Given the description of an element on the screen output the (x, y) to click on. 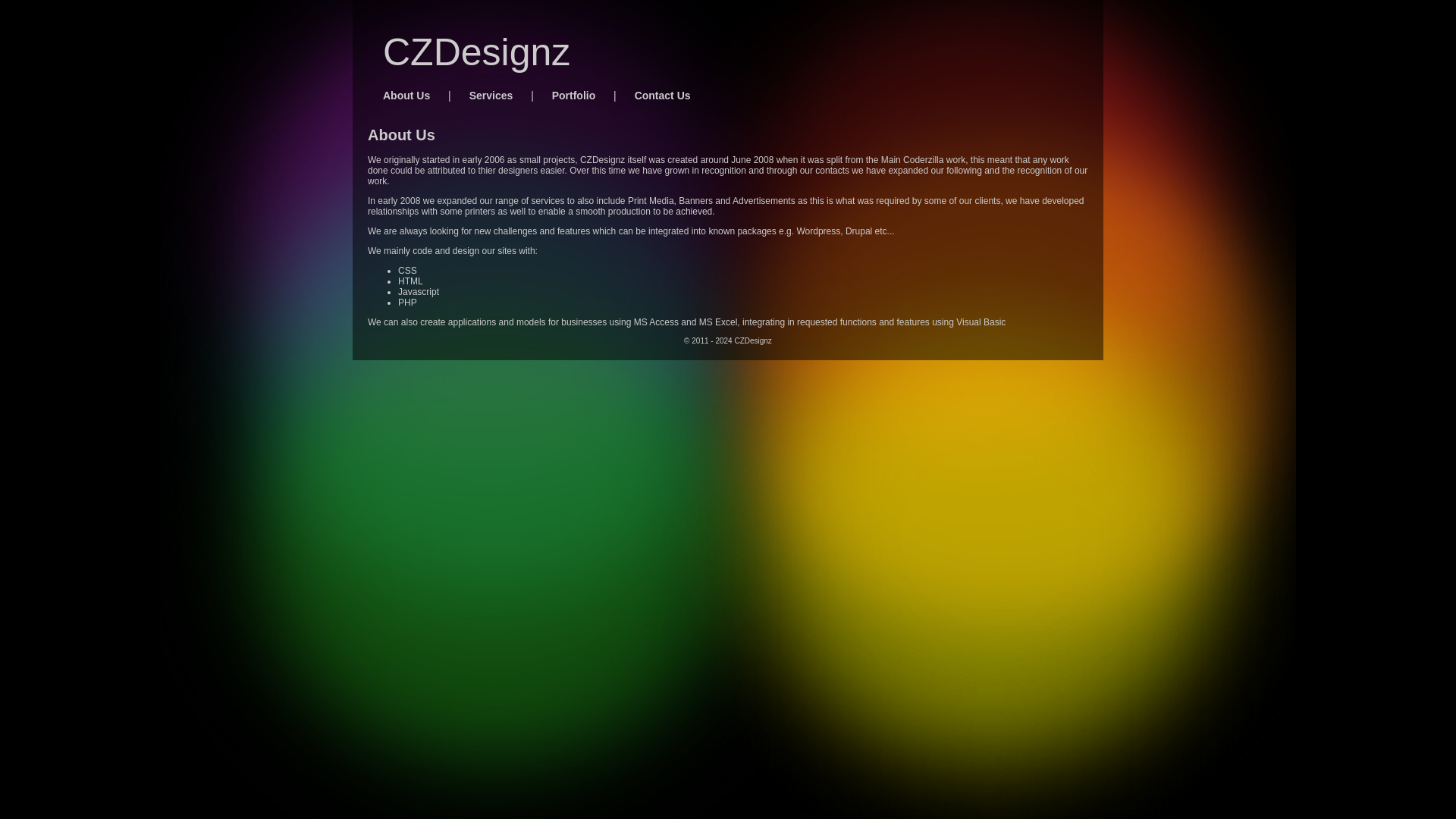
About Us (406, 95)
Portfolio (574, 95)
Contact Us (663, 95)
CZDesignz (476, 52)
Services (491, 95)
